Given the description of an element on the screen output the (x, y) to click on. 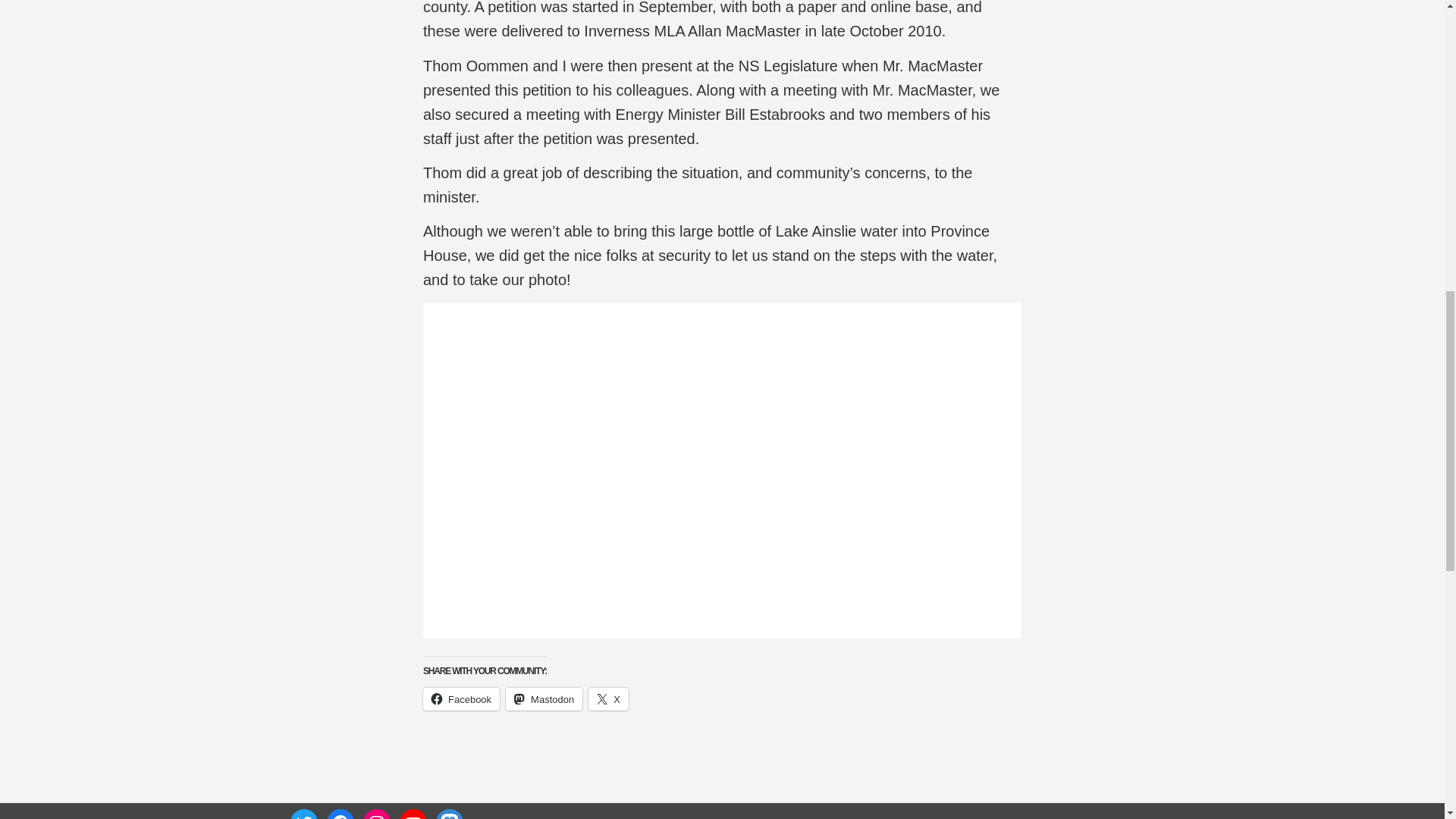
Mastodon (543, 698)
Click to share on Facebook (461, 698)
Click to share on X (608, 698)
Facebook (461, 698)
X (608, 698)
Click to share on Mastodon (543, 698)
